Given the description of an element on the screen output the (x, y) to click on. 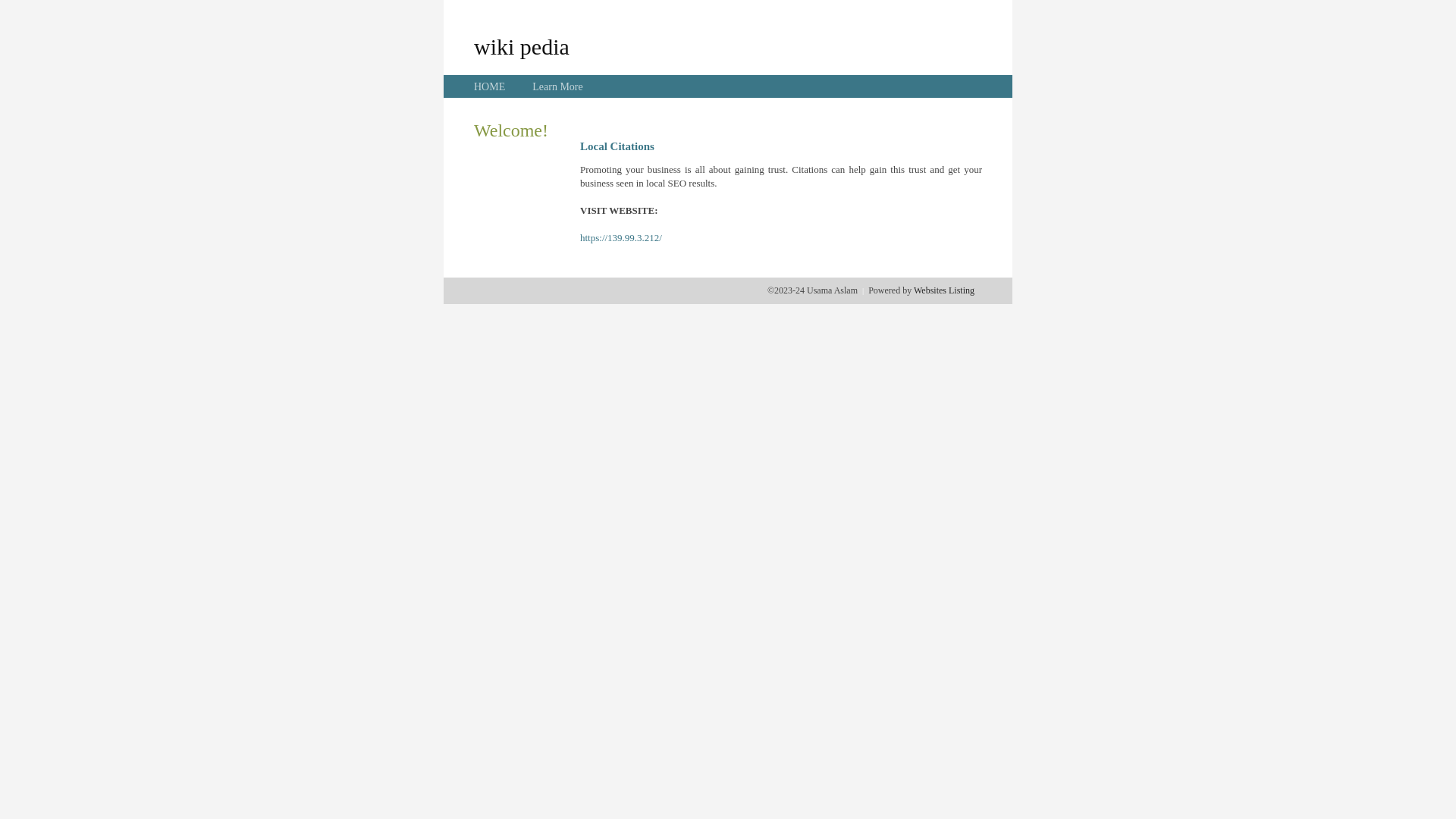
https://139.99.3.212/ Element type: text (621, 237)
Websites Listing Element type: text (943, 290)
Learn More Element type: text (557, 86)
HOME Element type: text (489, 86)
wiki pedia Element type: text (521, 46)
